Given the description of an element on the screen output the (x, y) to click on. 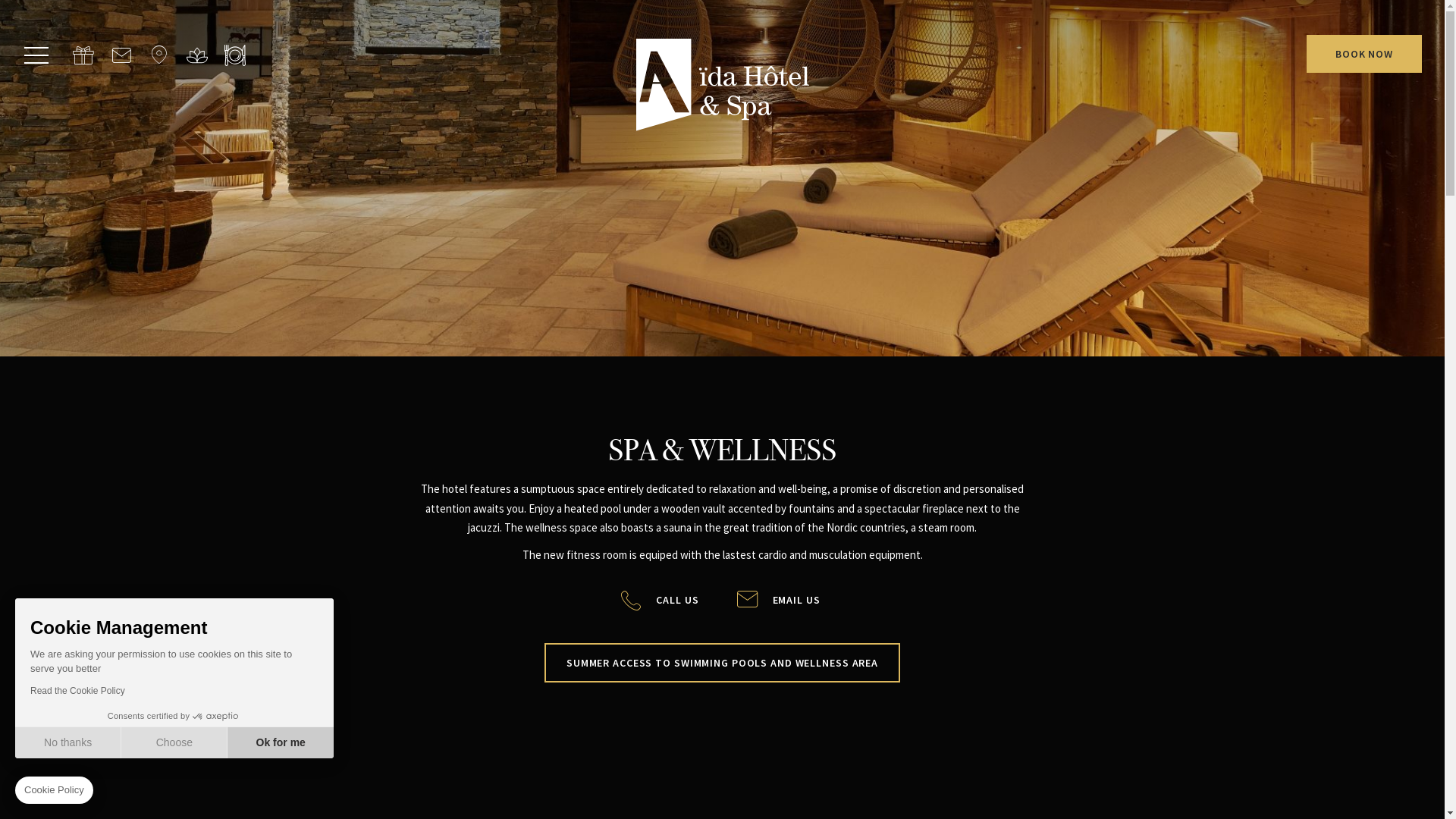
BOOK NOW Element type: text (1363, 53)
Choose Element type: text (174, 742)
Read the Cookie Policy Element type: text (77, 690)
Ok for me Element type: text (280, 742)
Restaurant Element type: text (234, 55)
CALL US Element type: text (676, 599)
No thanks Element type: text (68, 742)
EMAIL US Element type: text (796, 599)
Consents certified by Element type: text (174, 716)
Cookie Policy Element type: text (54, 789)
SUMMER ACCESS TO SWIMMING POOLS AND WELLNESS AREA Element type: text (722, 662)
